Given the description of an element on the screen output the (x, y) to click on. 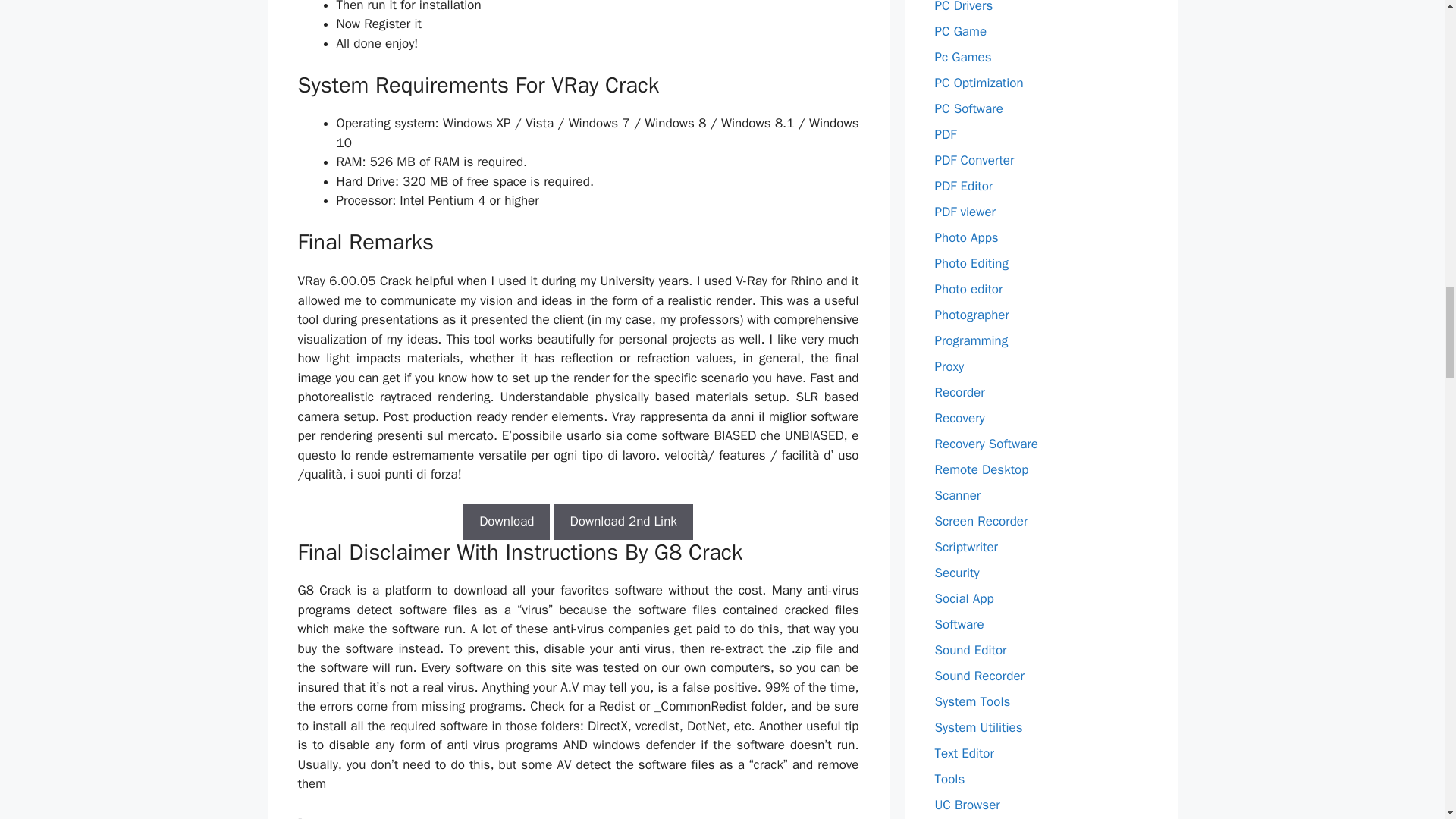
Download (506, 521)
Download 2nd Link (623, 521)
3D Tools (336, 817)
